Given the description of an element on the screen output the (x, y) to click on. 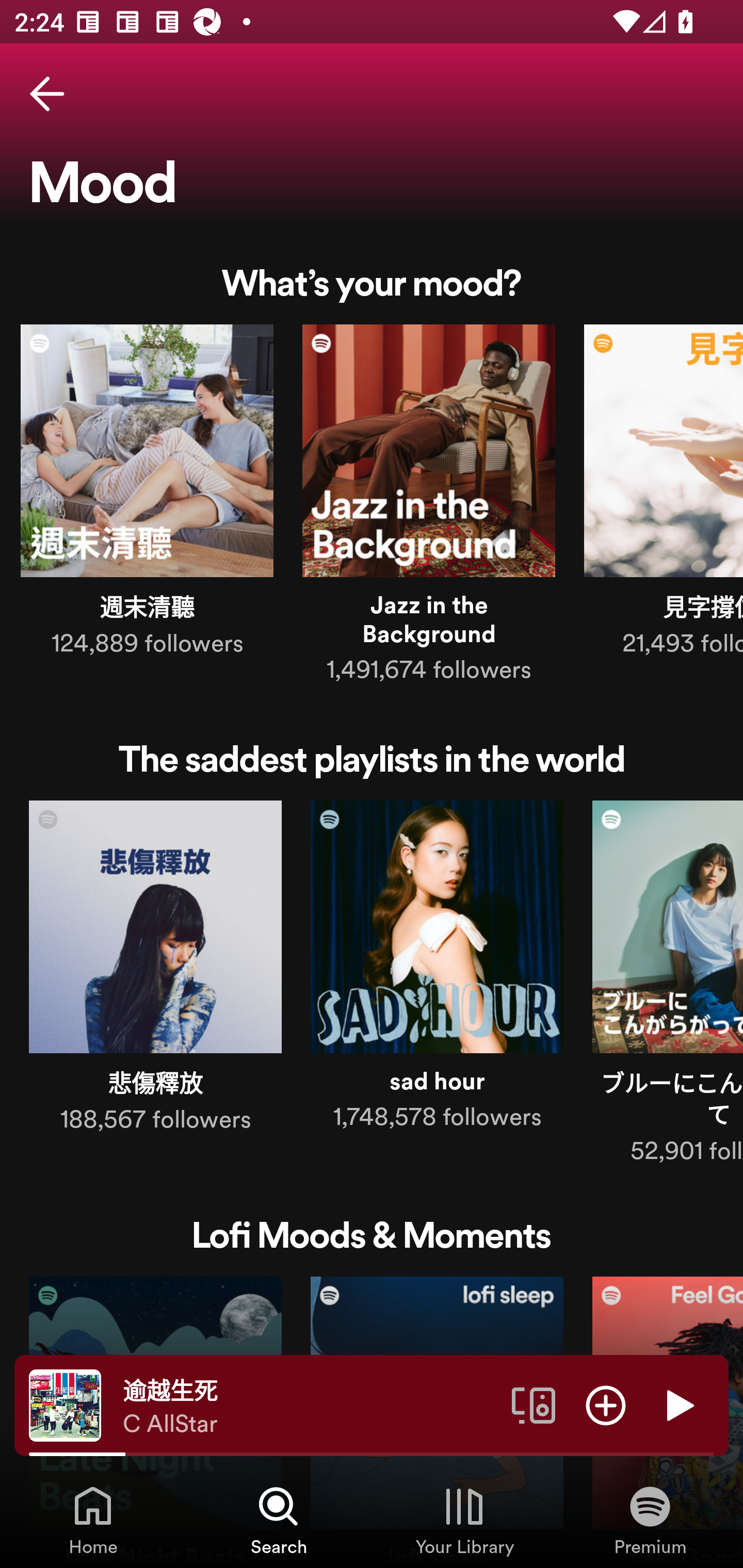
Back (46, 93)
週末清聽
124,889 followers 週末清聽 124,889 followers (146, 494)
見字撐住
21,493 followers 見字撐住 21,493 followers (663, 494)
悲傷釋放
188,567 followers 悲傷釋放 188,567 followers (154, 971)
逾越生死 C AllStar (309, 1405)
The cover art of the currently playing track (64, 1404)
Connect to a device. Opens the devices menu (533, 1404)
Add item (605, 1404)
Play (677, 1404)
Home, Tab 1 of 4 Home Home (92, 1519)
Search, Tab 2 of 4 Search Search (278, 1519)
Your Library, Tab 3 of 4 Your Library Your Library (464, 1519)
Premium, Tab 4 of 4 Premium Premium (650, 1519)
